Given the description of an element on the screen output the (x, y) to click on. 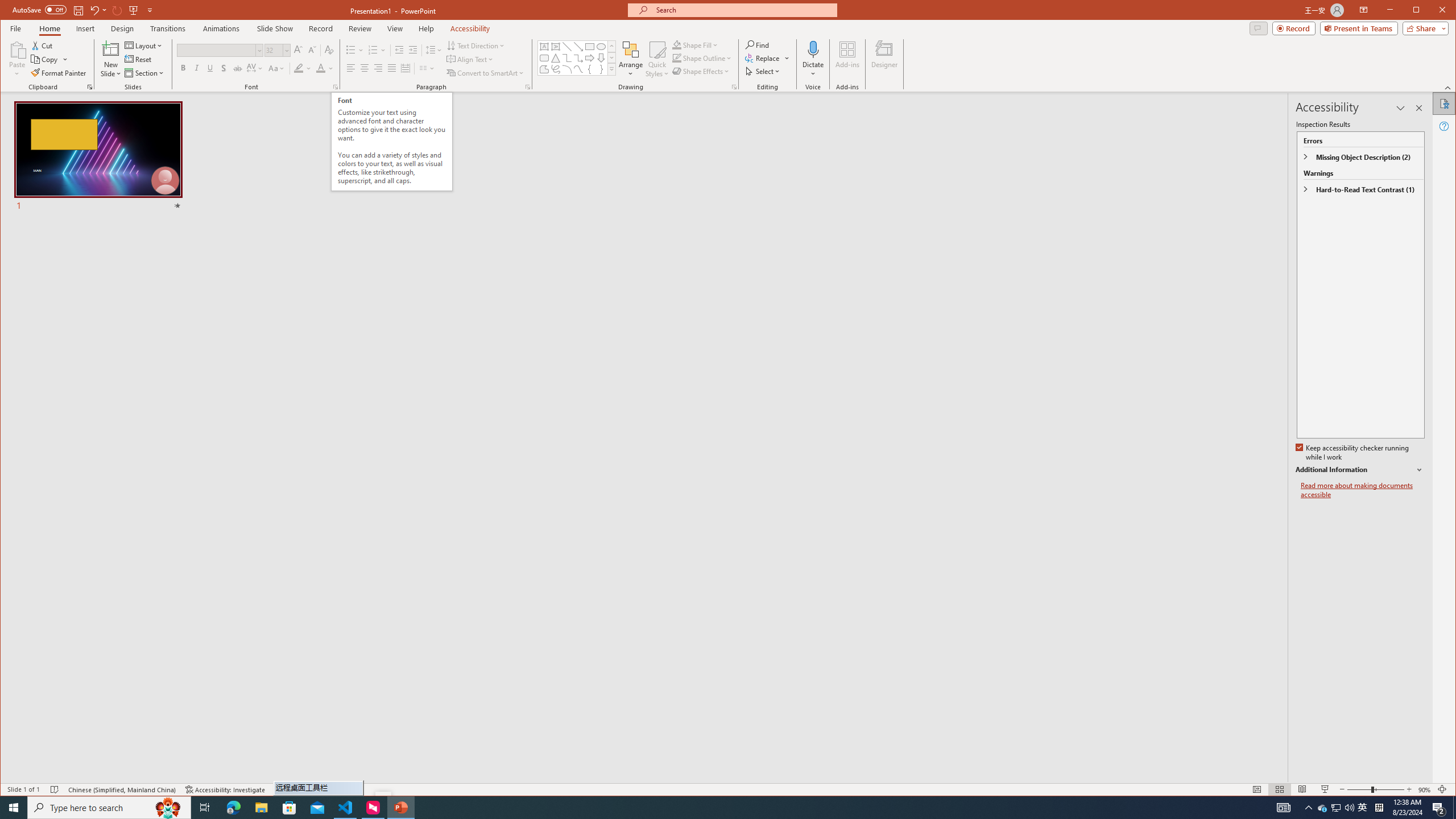
Shape Outline (702, 57)
Action Center, 2 new notifications (1439, 807)
Additional Information (1360, 469)
